Given the description of an element on the screen output the (x, y) to click on. 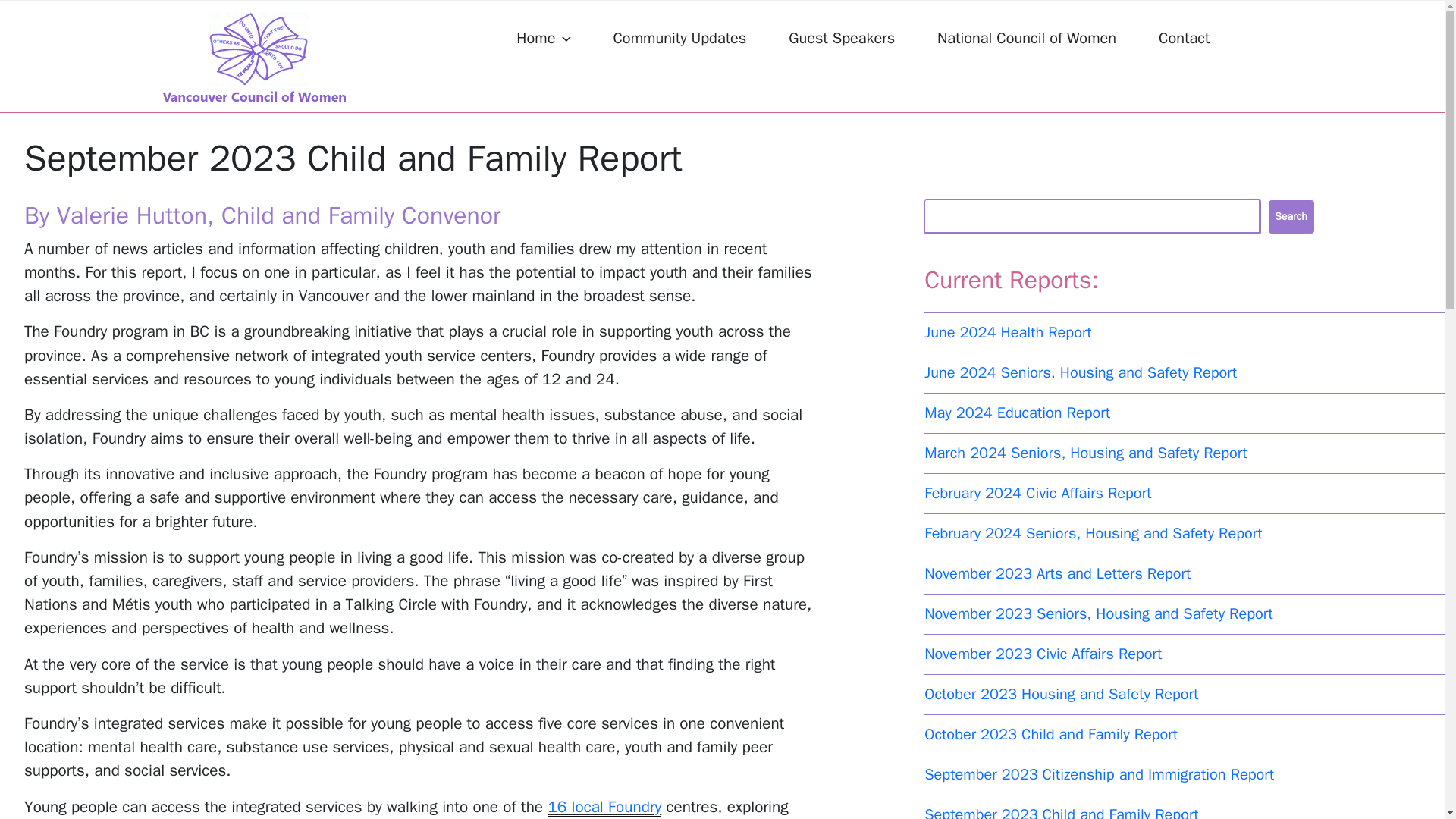
March 2024 Seniors, Housing and Safety Report (1085, 452)
Community Updates (679, 38)
February 2024 Seniors, Housing and Safety Report (1093, 533)
June 2024 Health Report (1008, 332)
October 2023 Child and Family Report (1050, 733)
May 2024 Education Report (1016, 412)
Guest Speakers (842, 38)
Home (543, 38)
Contact (1184, 38)
Search (1291, 216)
